Given the description of an element on the screen output the (x, y) to click on. 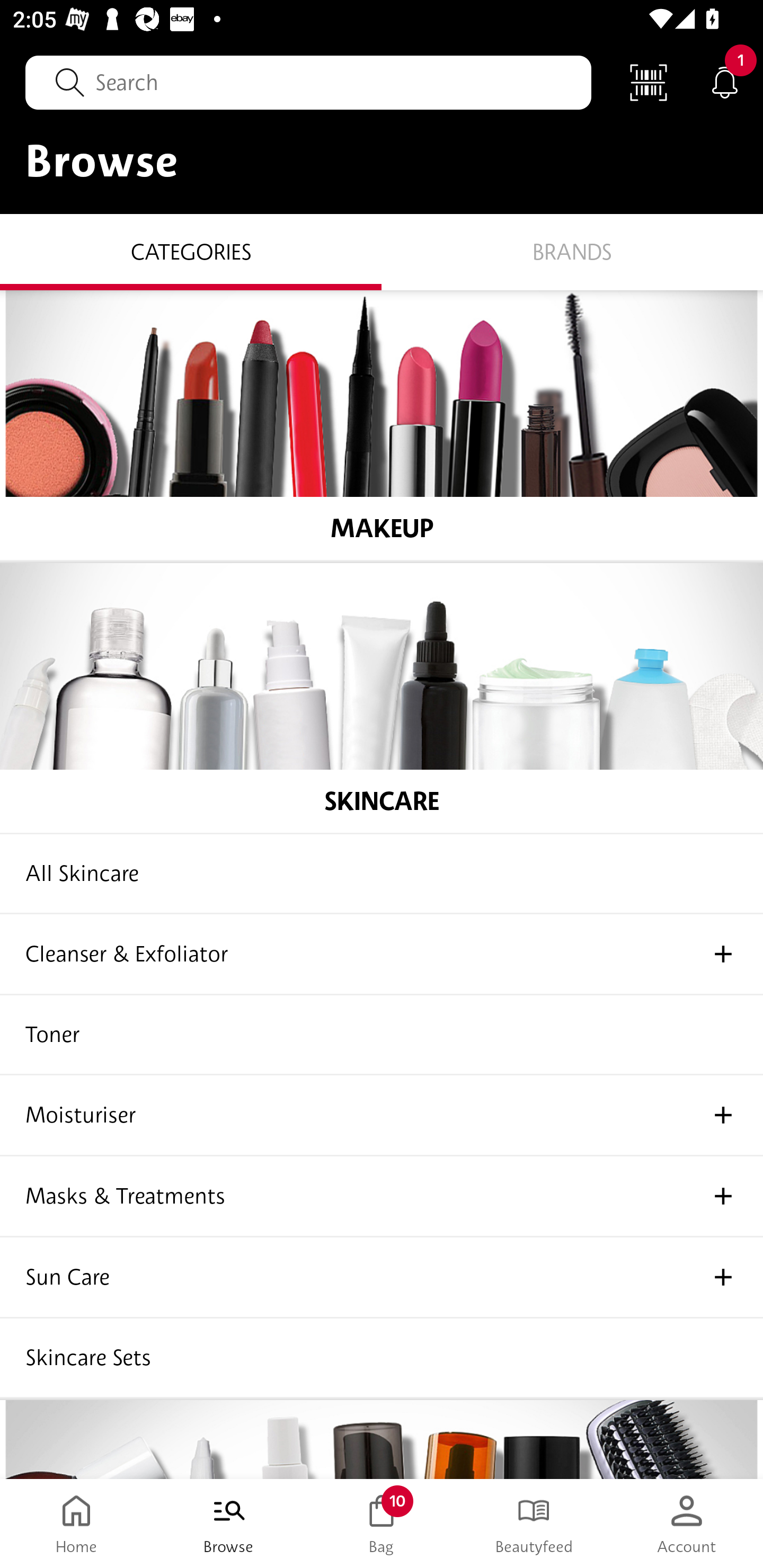
Scan Code (648, 81)
Notifications (724, 81)
Search (308, 81)
Brands BRANDS (572, 251)
MAKEUP (381, 425)
All Skincare (381, 874)
Cleanser & Exfoliator (381, 954)
Toner (381, 1035)
Moisturiser (381, 1116)
Masks & Treatments (381, 1197)
Sun Care (381, 1277)
Skincare Sets (381, 1358)
Home (76, 1523)
Bag 10 Bag (381, 1523)
Beautyfeed (533, 1523)
Account (686, 1523)
